Given the description of an element on the screen output the (x, y) to click on. 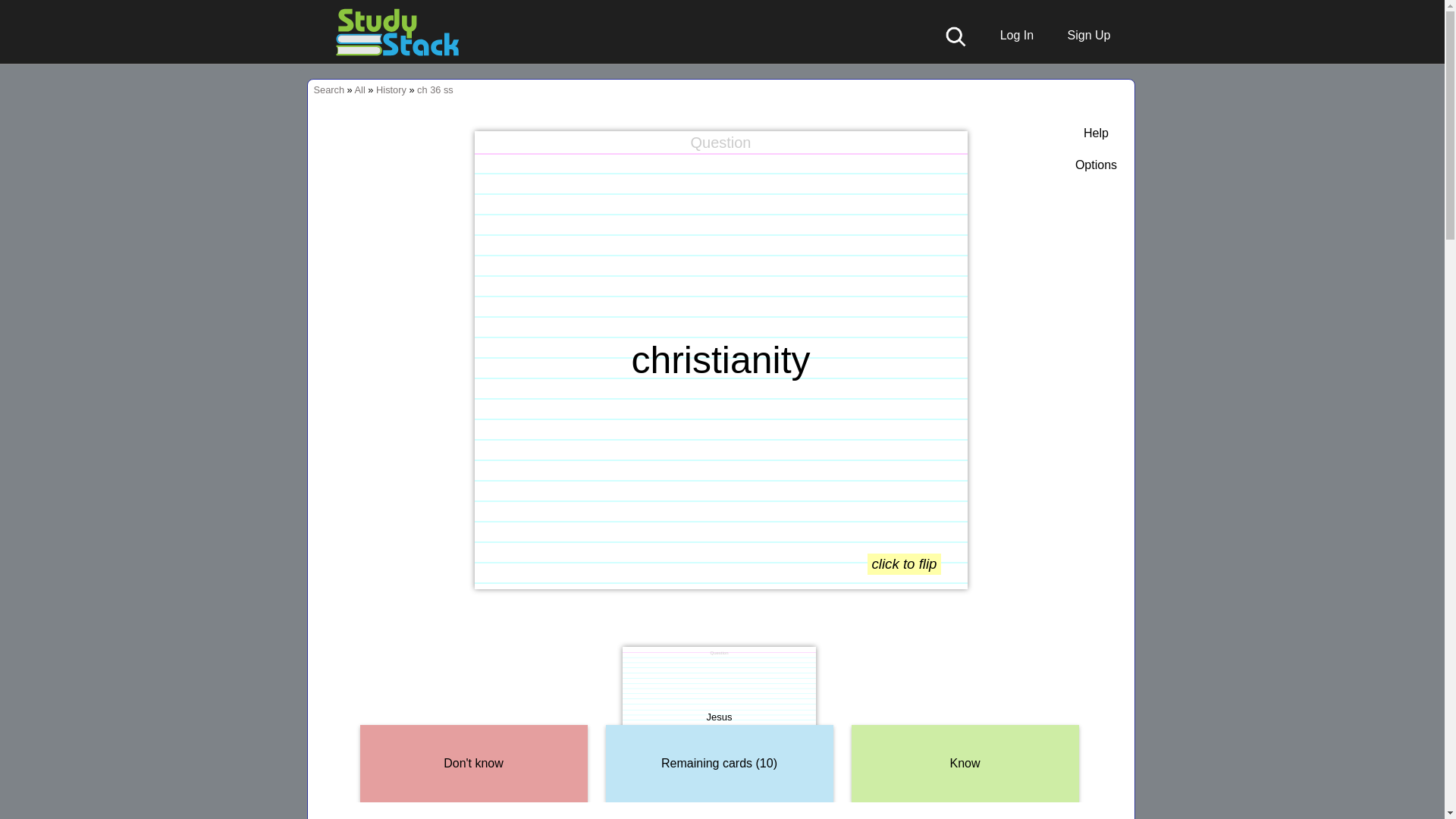
Click here or press right arrow if you know the card (964, 763)
ch 36 ss (434, 89)
History (390, 89)
Search (329, 89)
Log In (1009, 35)
Click here or press left arrow if you do not know the card (472, 763)
Show options (1096, 165)
Sign Up (1081, 35)
All (360, 89)
Show helpful tips (1096, 133)
speak card (949, 149)
